Given the description of an element on the screen output the (x, y) to click on. 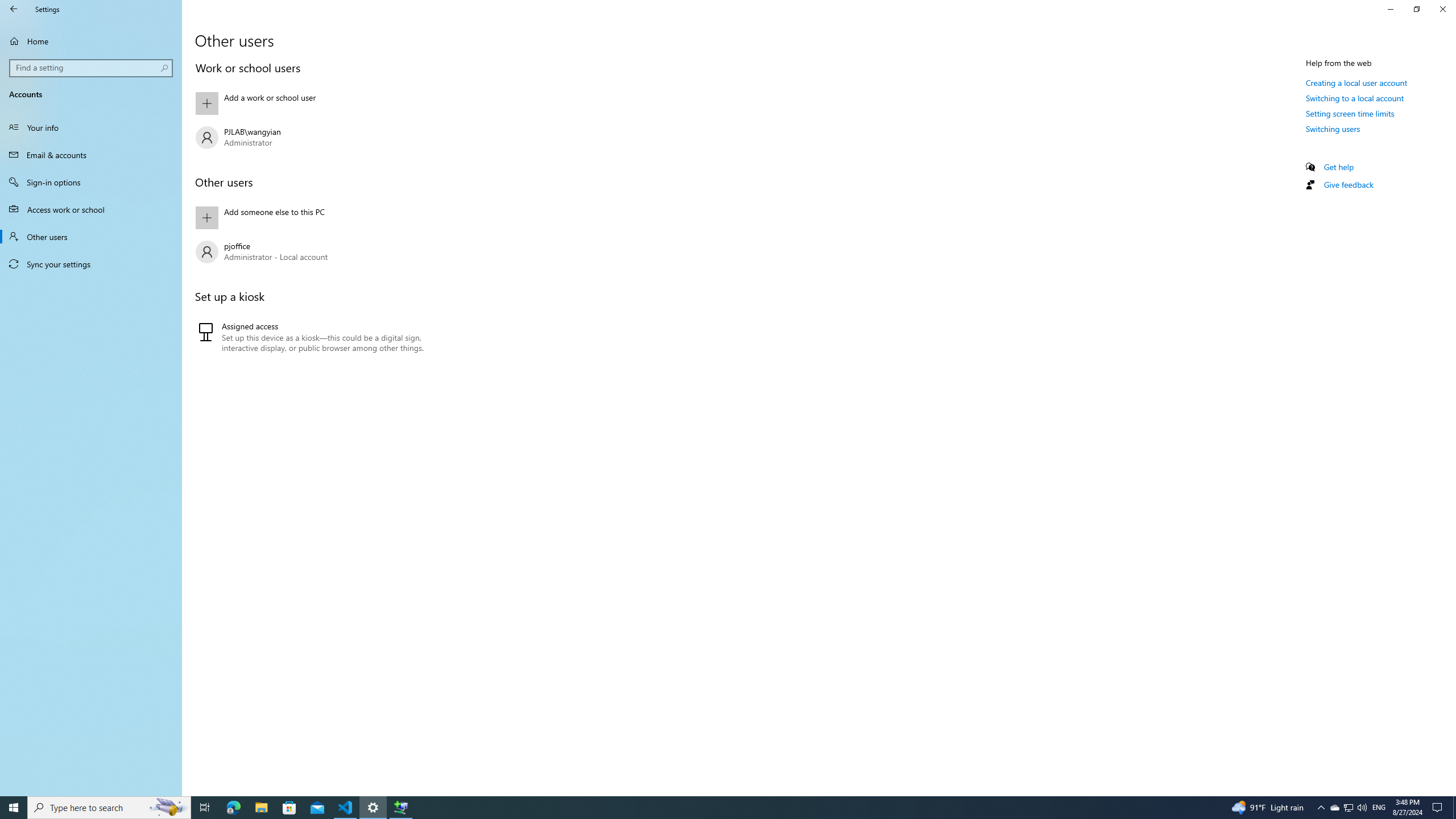
Visual Studio Code - 1 running window (345, 807)
Search highlights icon opens search home window (167, 807)
Sync your settings (91, 263)
Access work or school (91, 208)
Close Settings (1442, 9)
Q2790: 100% (1361, 807)
Extensible Wizards Host Process - 1 running window (400, 807)
Search box, Find a setting (91, 67)
Setting screen time limits (1350, 113)
Type here to search (108, 807)
PJLAB\wangyian Administrator (319, 137)
Minimize Settings (1390, 9)
Switching to a local account (1354, 97)
Start (13, 807)
